Given the description of an element on the screen output the (x, y) to click on. 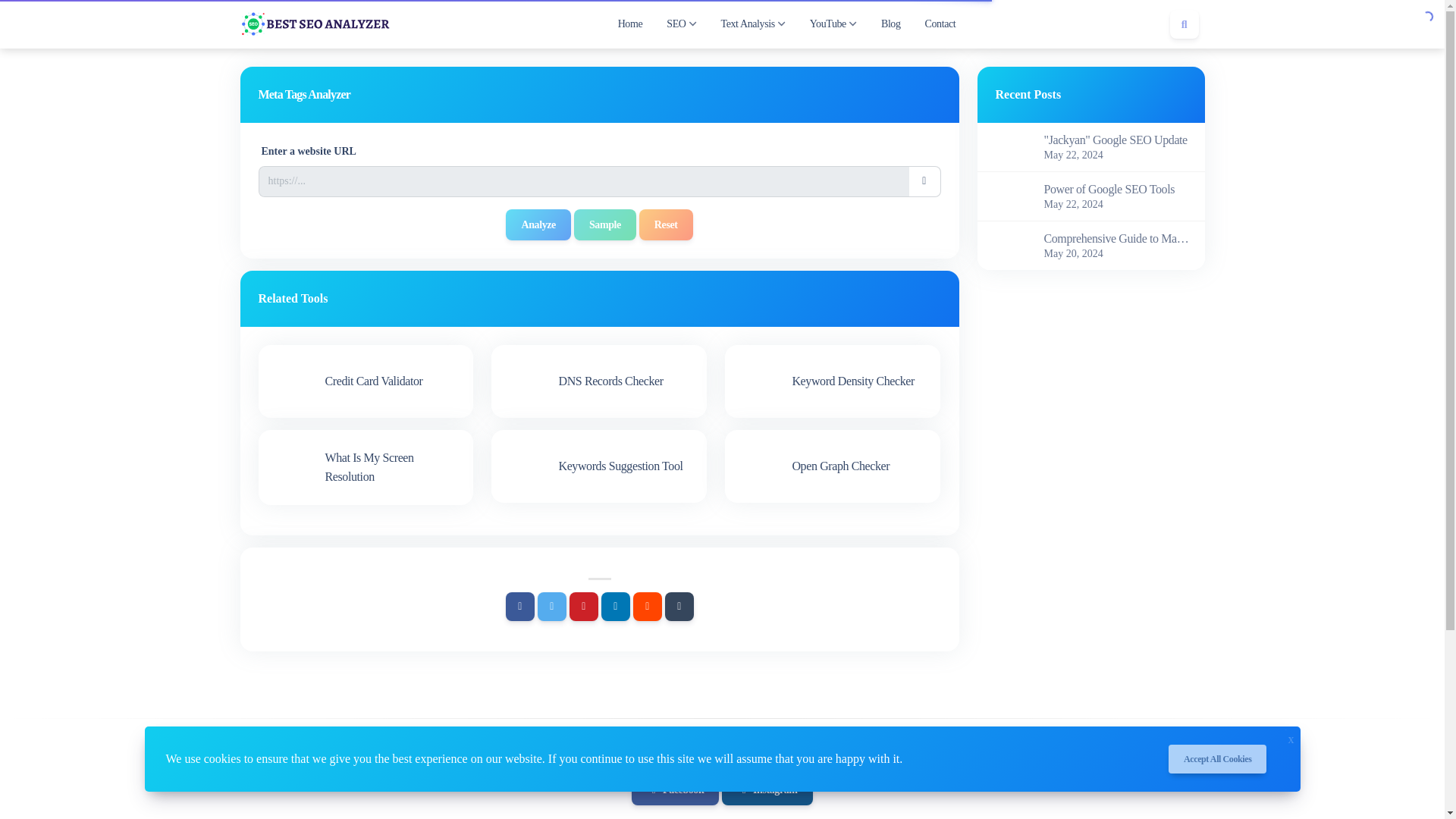
Analyze (537, 224)
"Jackyan" Google SEO Update (1117, 139)
"Jackyan" Google SEO Update (1006, 145)
Reset (666, 224)
Home (630, 23)
Open Graph Checker (832, 465)
"Jackyan" Google SEO Update (1117, 139)
Sample (604, 224)
Power of Google SEO Tools (1006, 195)
